Given the description of an element on the screen output the (x, y) to click on. 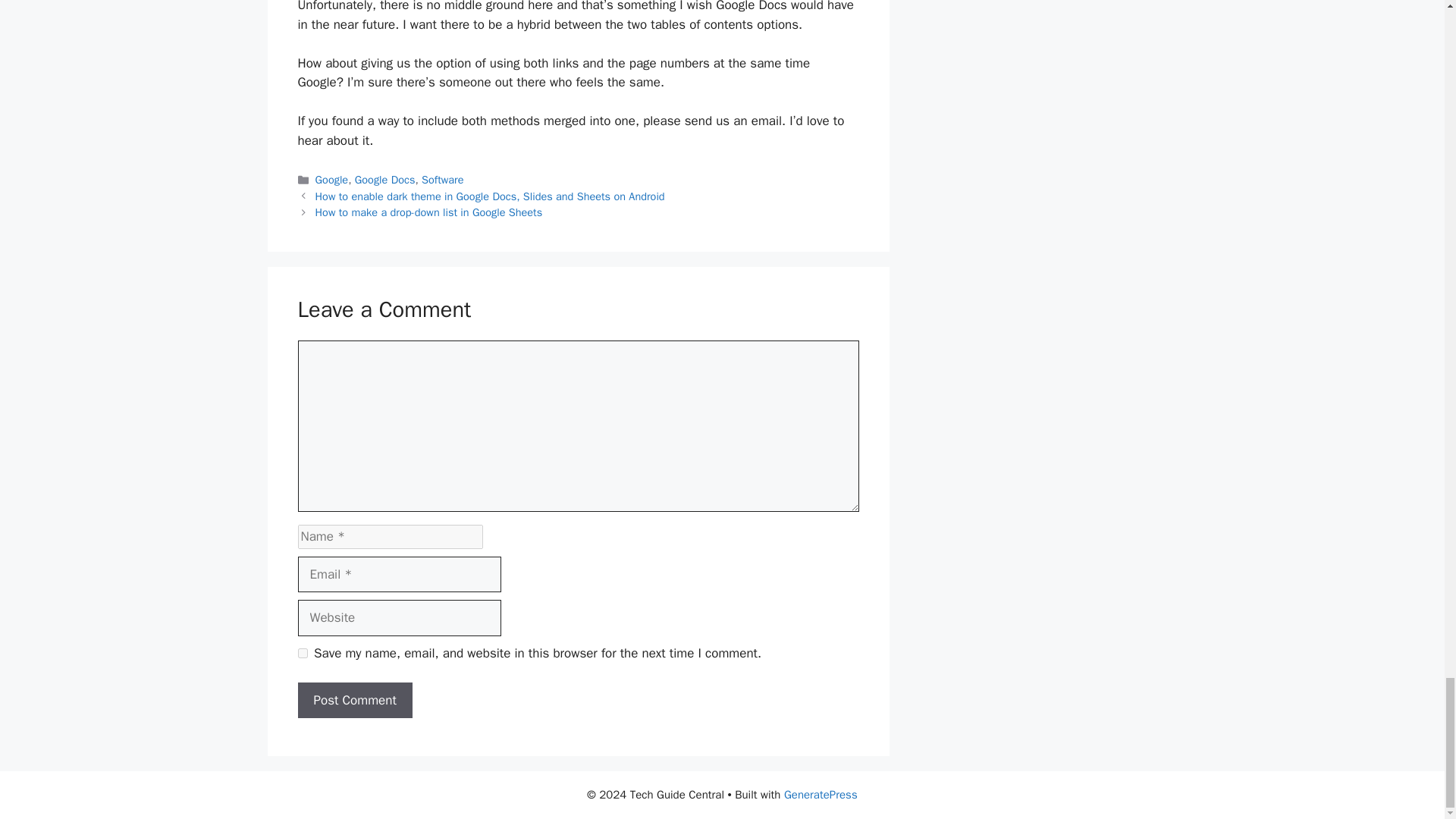
yes (302, 653)
Post Comment (354, 700)
Google Docs (384, 179)
Google (332, 179)
Post Comment (354, 700)
How to make a drop-down list in Google Sheets (429, 212)
Software (442, 179)
GeneratePress (820, 794)
